Given the description of an element on the screen output the (x, y) to click on. 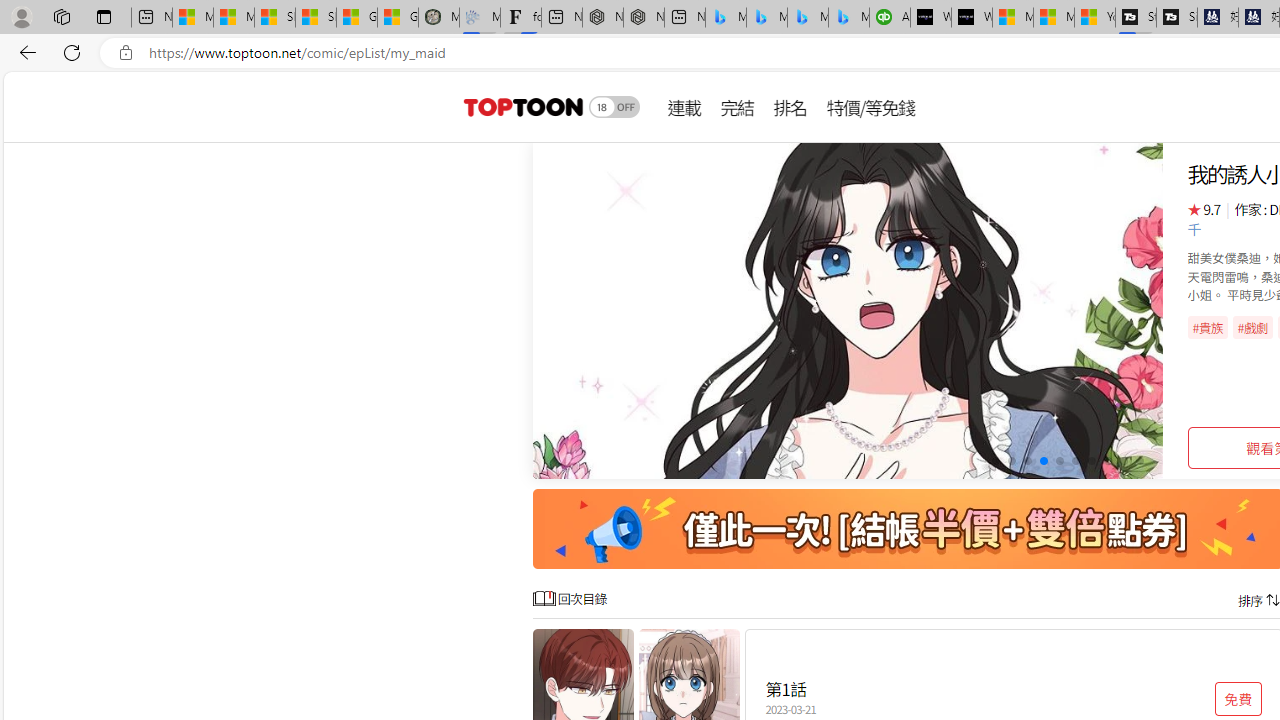
Microsoft Bing Travel - Shangri-La Hotel Bangkok (849, 17)
Go to slide 4 (1043, 461)
What's the best AI voice generator? - voice.ai (971, 17)
Class: swiper-slide swiper-slide-duplicate (847, 310)
Class: swiper-slide swiper-slide-next (847, 310)
Go to slide 1 (994, 461)
Manatee Mortality Statistics | FWC (438, 17)
Class: swiper-slide swiper-slide-prev (847, 310)
